Given the description of an element on the screen output the (x, y) to click on. 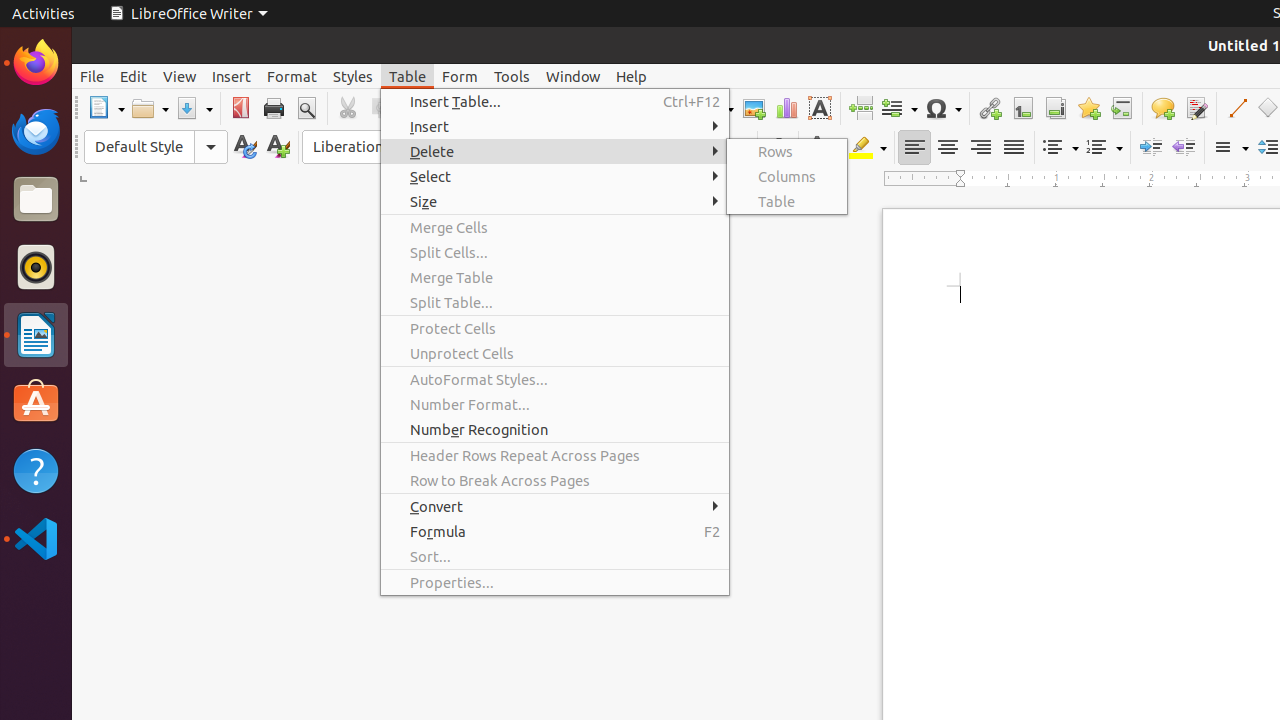
Line Spacing Element type: push-button (1230, 147)
Delete Element type: menu (555, 151)
Formula Element type: menu-item (555, 531)
Open Element type: push-button (150, 108)
Help Element type: push-button (36, 470)
